Given the description of an element on the screen output the (x, y) to click on. 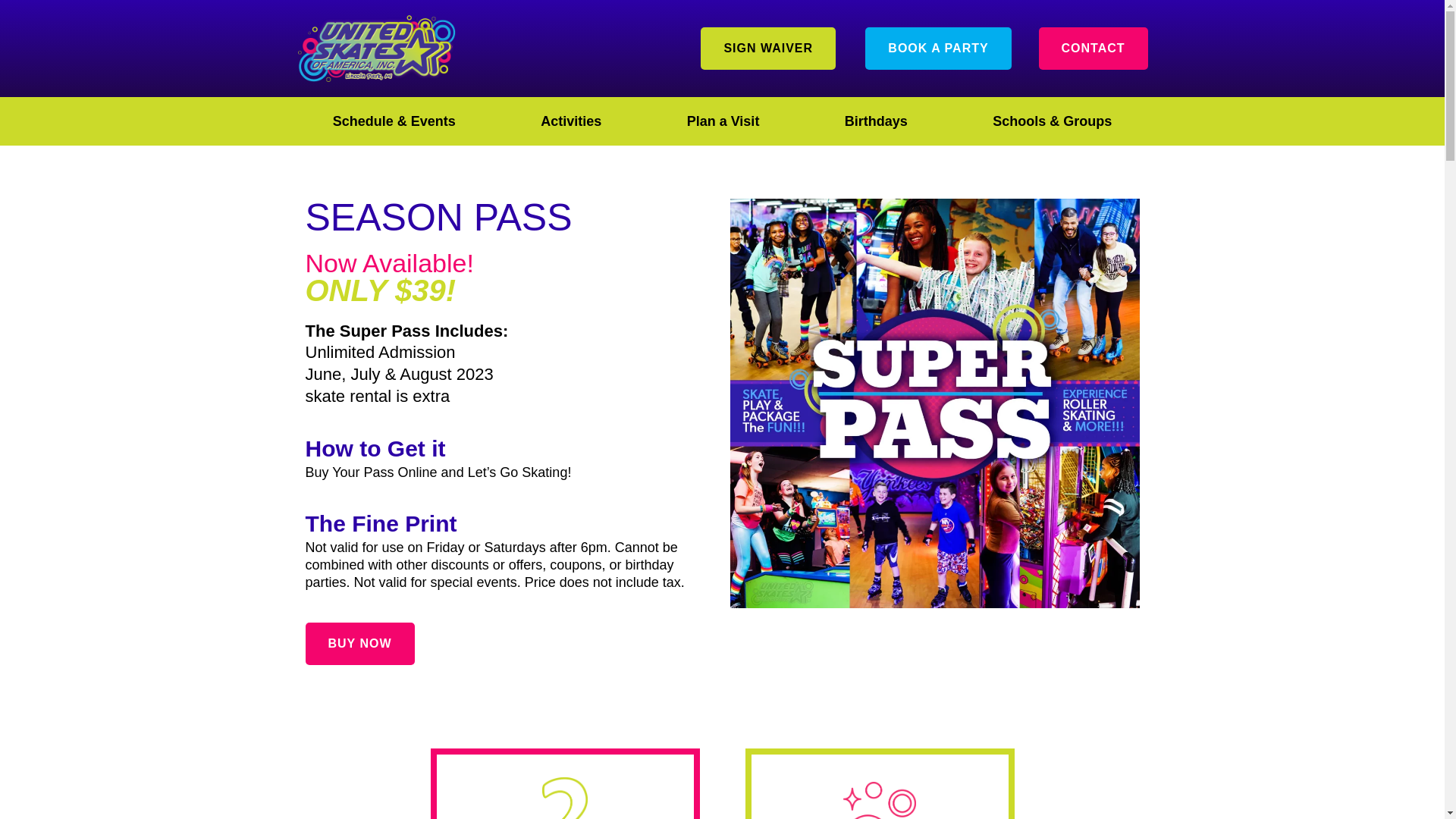
CONTACT (1093, 48)
Birthdays (876, 121)
SIGN WAIVER (767, 48)
BOOK A PARTY (937, 48)
Activities (570, 121)
Plan a Visit (722, 121)
